Given the description of an element on the screen output the (x, y) to click on. 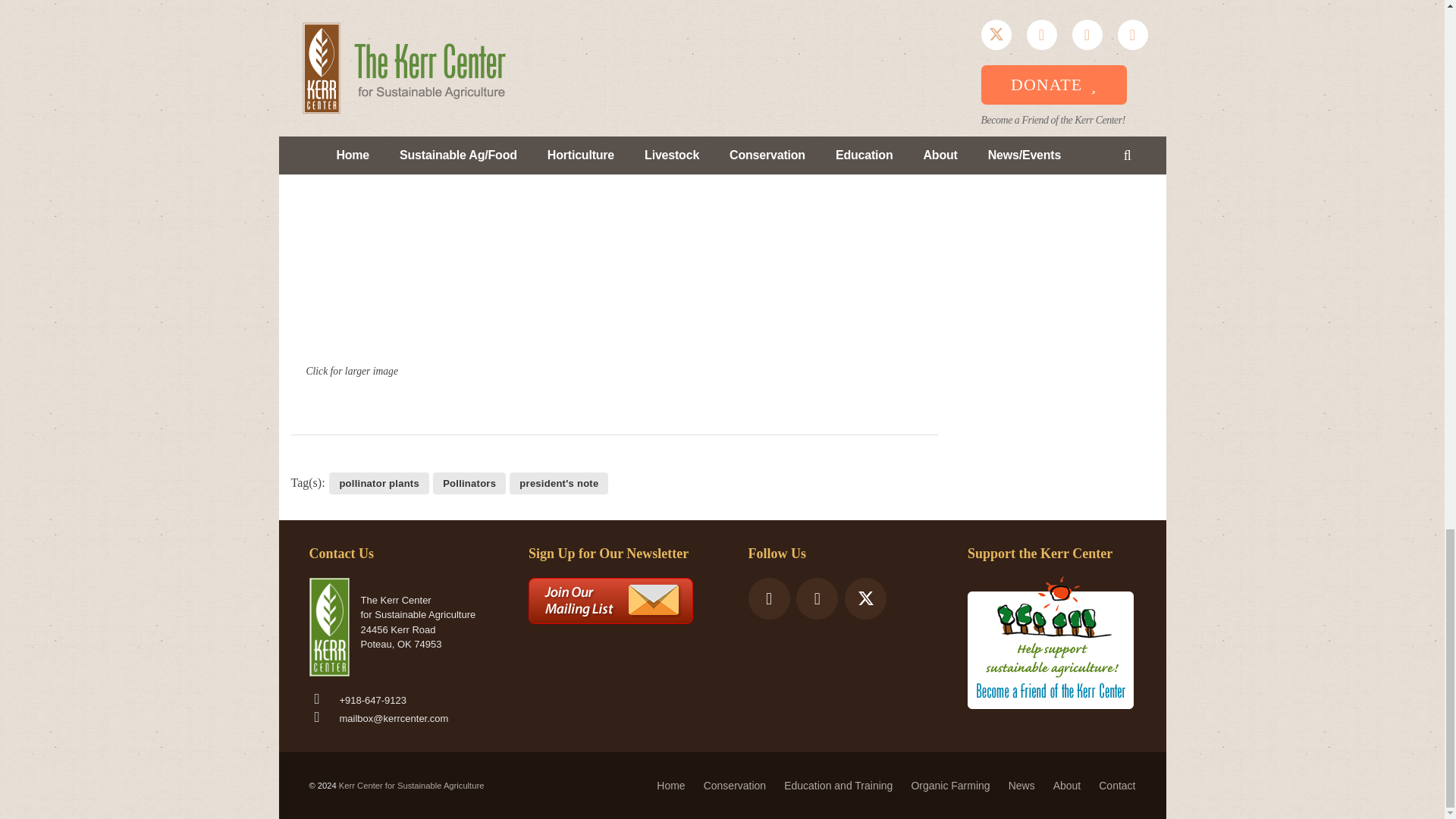
Twitter (865, 598)
Facebook (768, 598)
YouTube (817, 598)
